Given the description of an element on the screen output the (x, y) to click on. 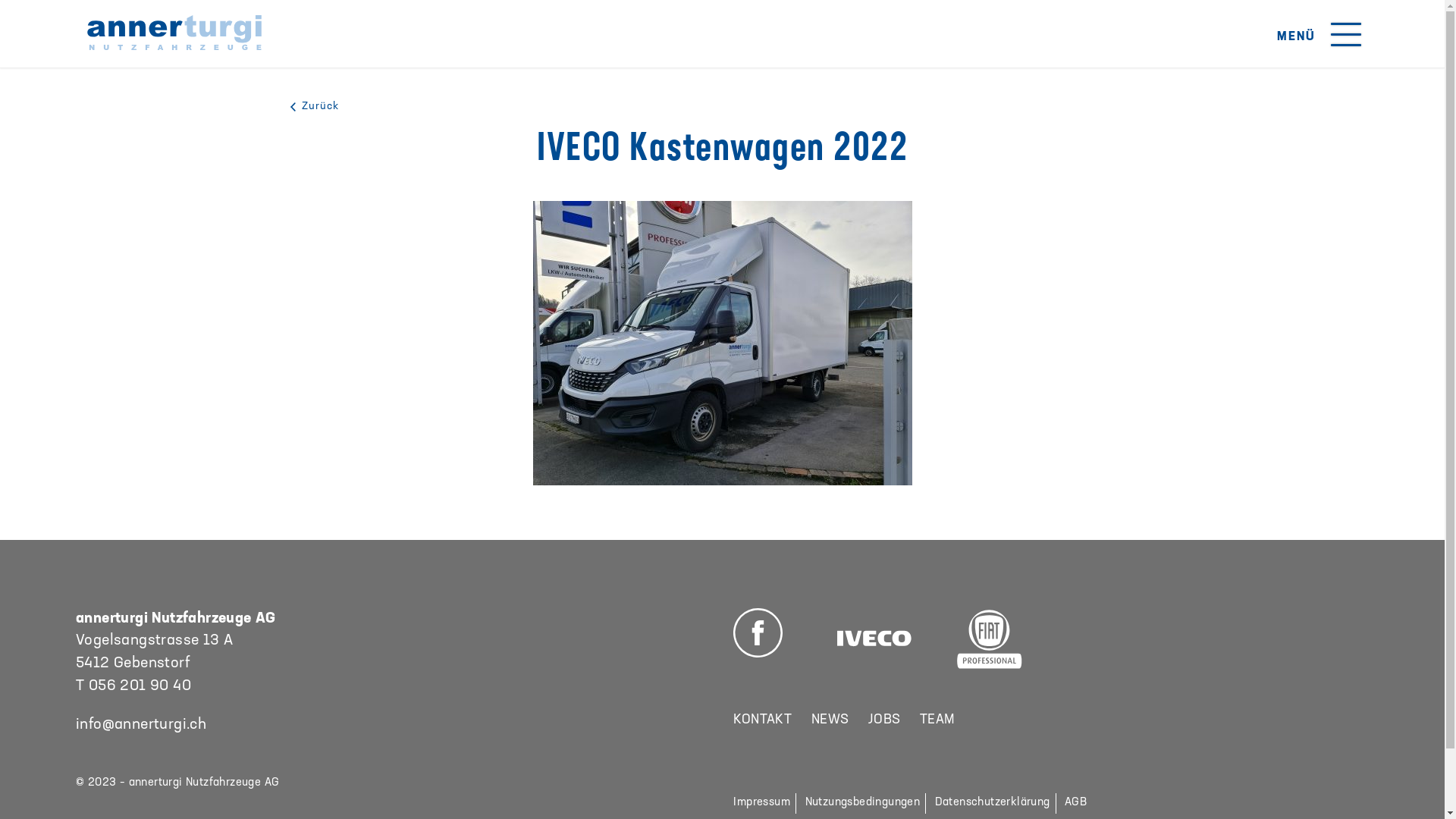
info@annerturgi.ch Element type: text (140, 724)
Impressum Element type: text (762, 802)
AGB Element type: text (1075, 802)
NEWS Element type: text (829, 720)
Nutzungsbedingungen Element type: text (862, 802)
056 201 90 40 Element type: text (139, 685)
Lannerturgi Nutzfahrzeuge Element type: hover (174, 32)
TEAM Element type: text (937, 720)
KONTAKT Element type: text (762, 720)
JOBS Element type: text (884, 720)
